Given the description of an element on the screen output the (x, y) to click on. 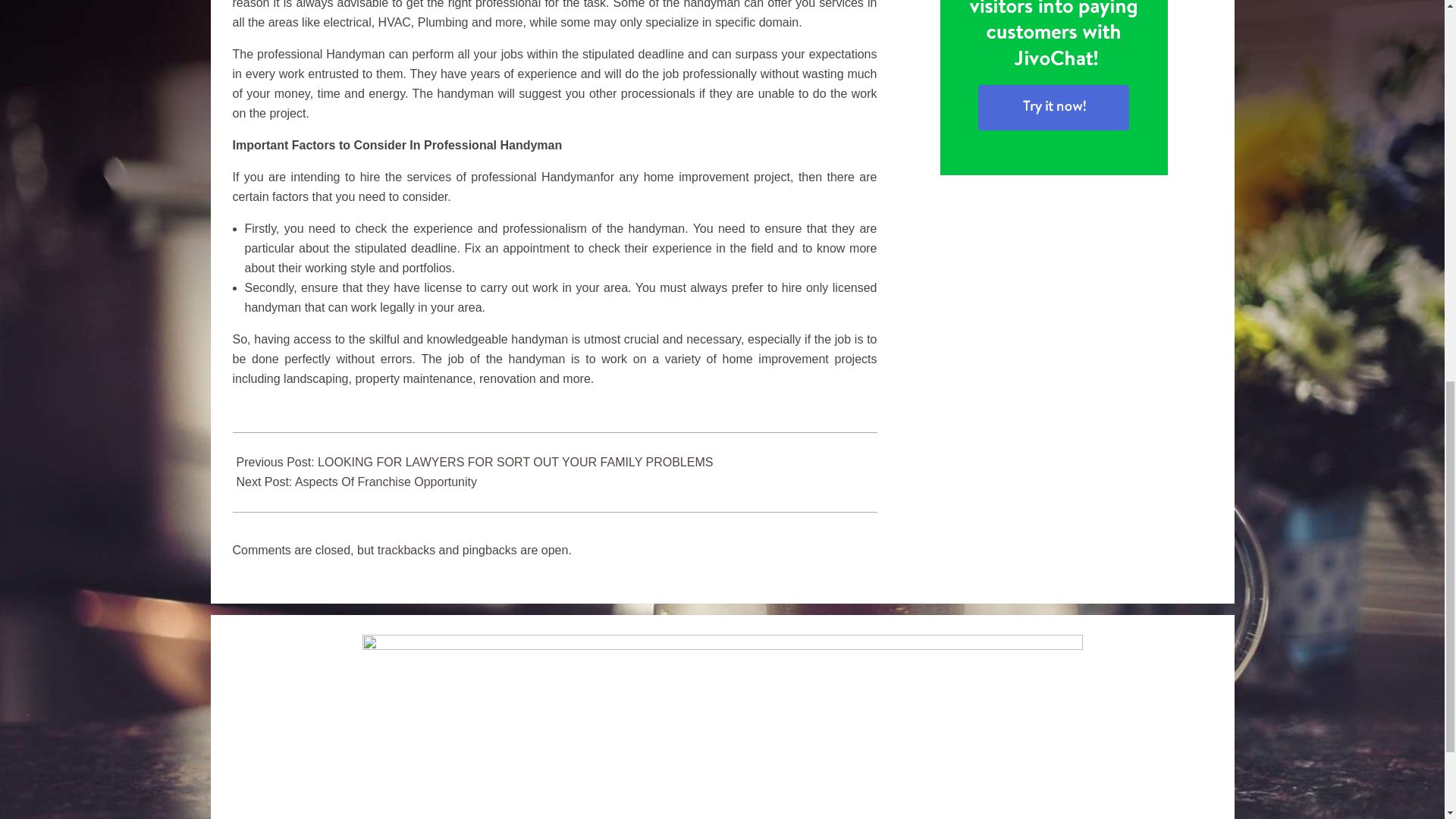
LOOKING FOR LAWYERS FOR SORT OUT YOUR FAMILY PROBLEMS (515, 461)
trackbacks (406, 549)
Aspects Of Franchise Opportunity (386, 481)
